Given the description of an element on the screen output the (x, y) to click on. 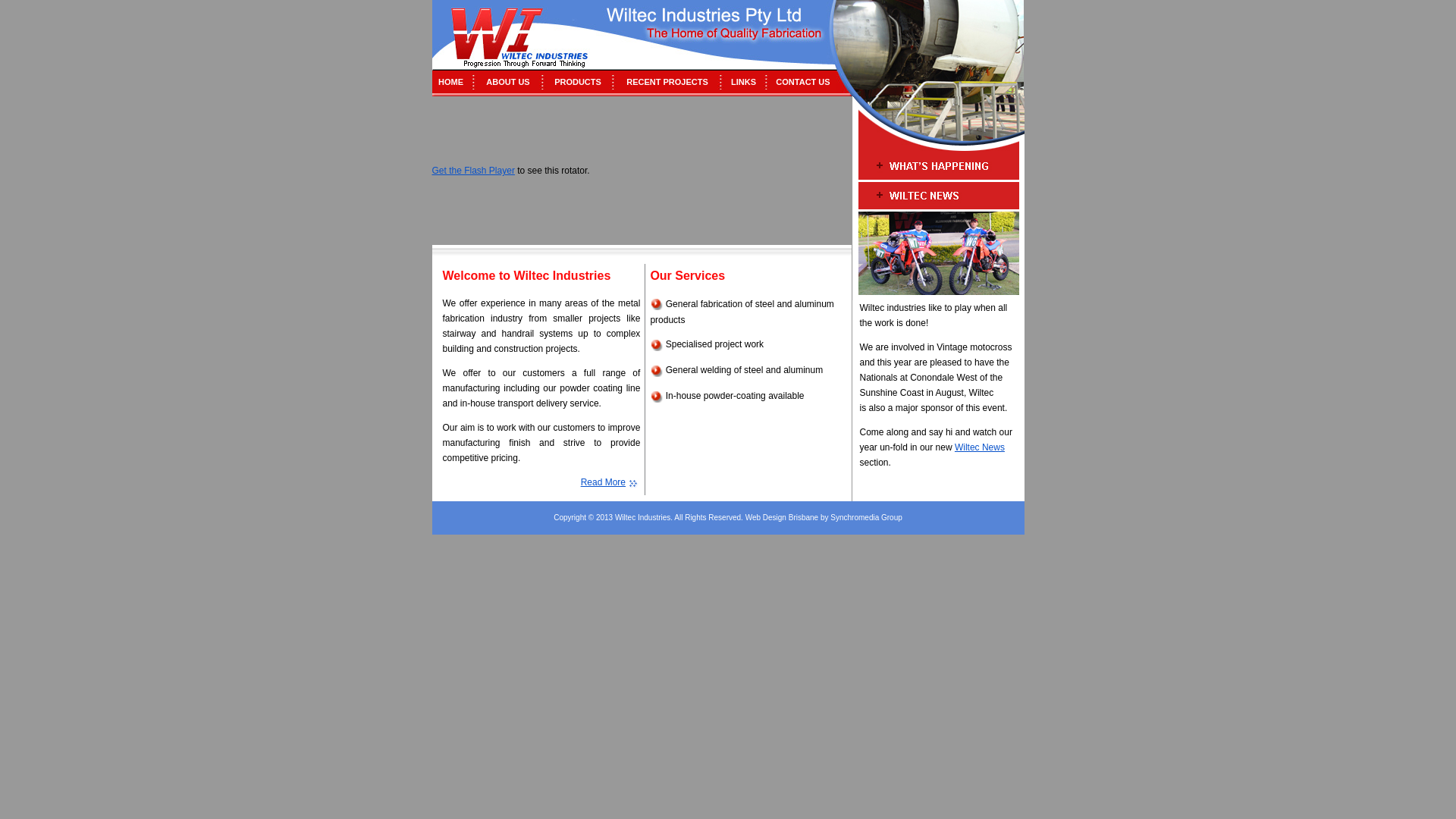
PRODUCTS Element type: text (577, 81)
Synchromedia Group Element type: text (866, 517)
RECENT PROJECTS Element type: text (667, 81)
Get the Flash Player Element type: text (473, 170)
Wiltec News Element type: text (979, 447)
Read More Element type: text (602, 481)
HOME Element type: text (450, 81)
ABOUT US Element type: text (507, 81)
LINKS Element type: text (743, 81)
CONTACT US Element type: text (802, 81)
